Given the description of an element on the screen output the (x, y) to click on. 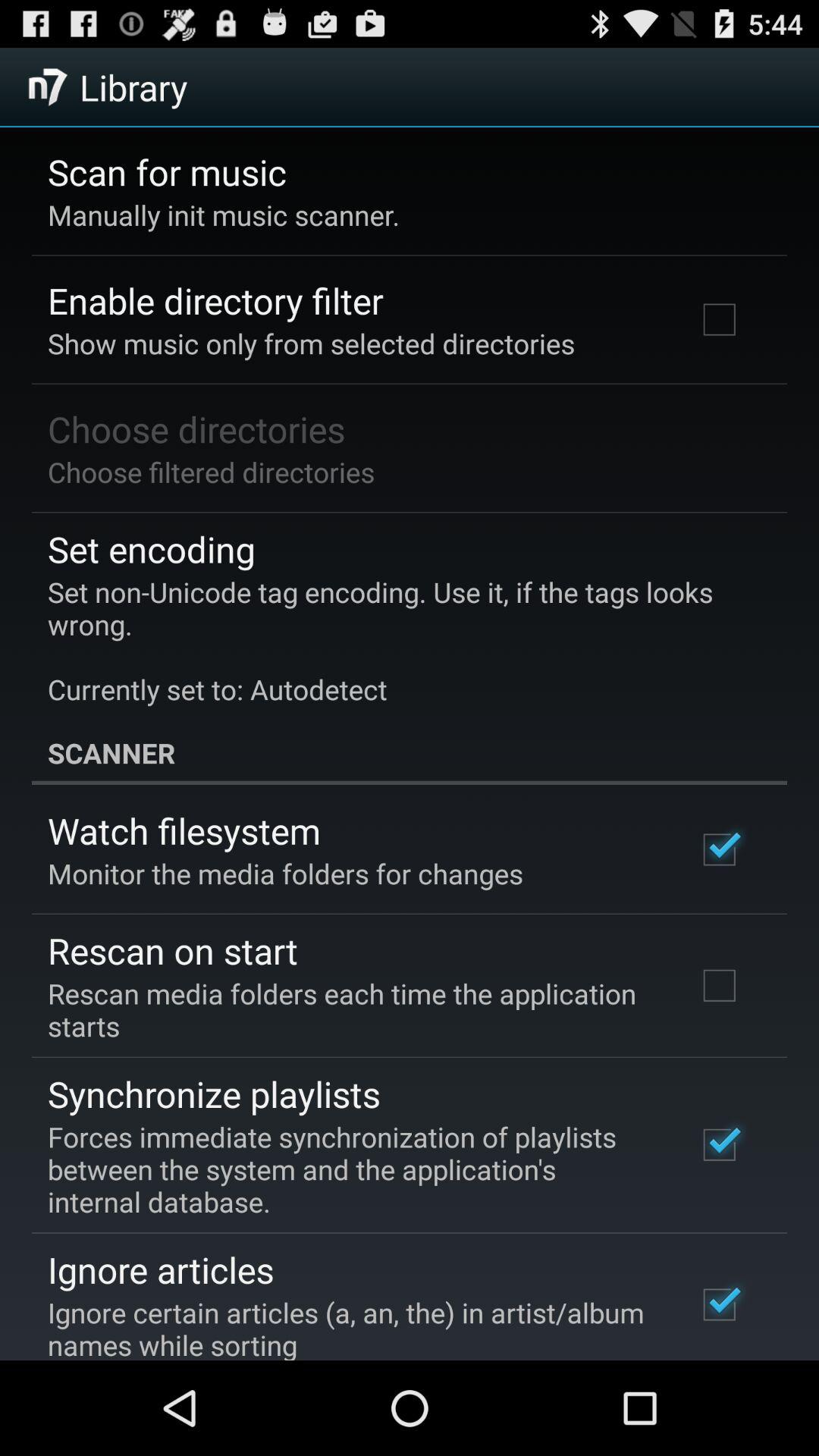
turn off the icon above the ignore articles app (351, 1169)
